Given the description of an element on the screen output the (x, y) to click on. 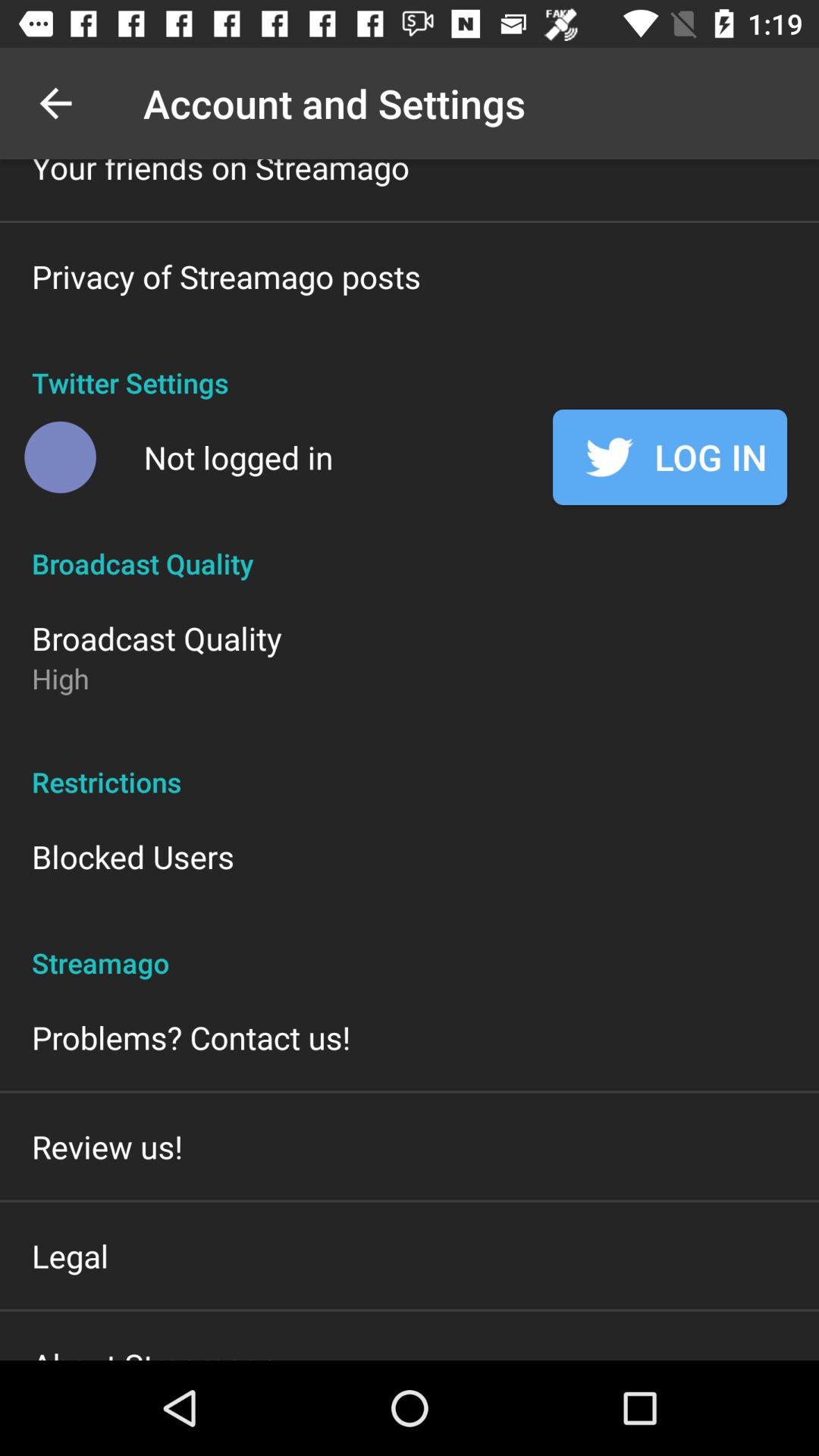
flip until the problems? contact us! (190, 1037)
